Given the description of an element on the screen output the (x, y) to click on. 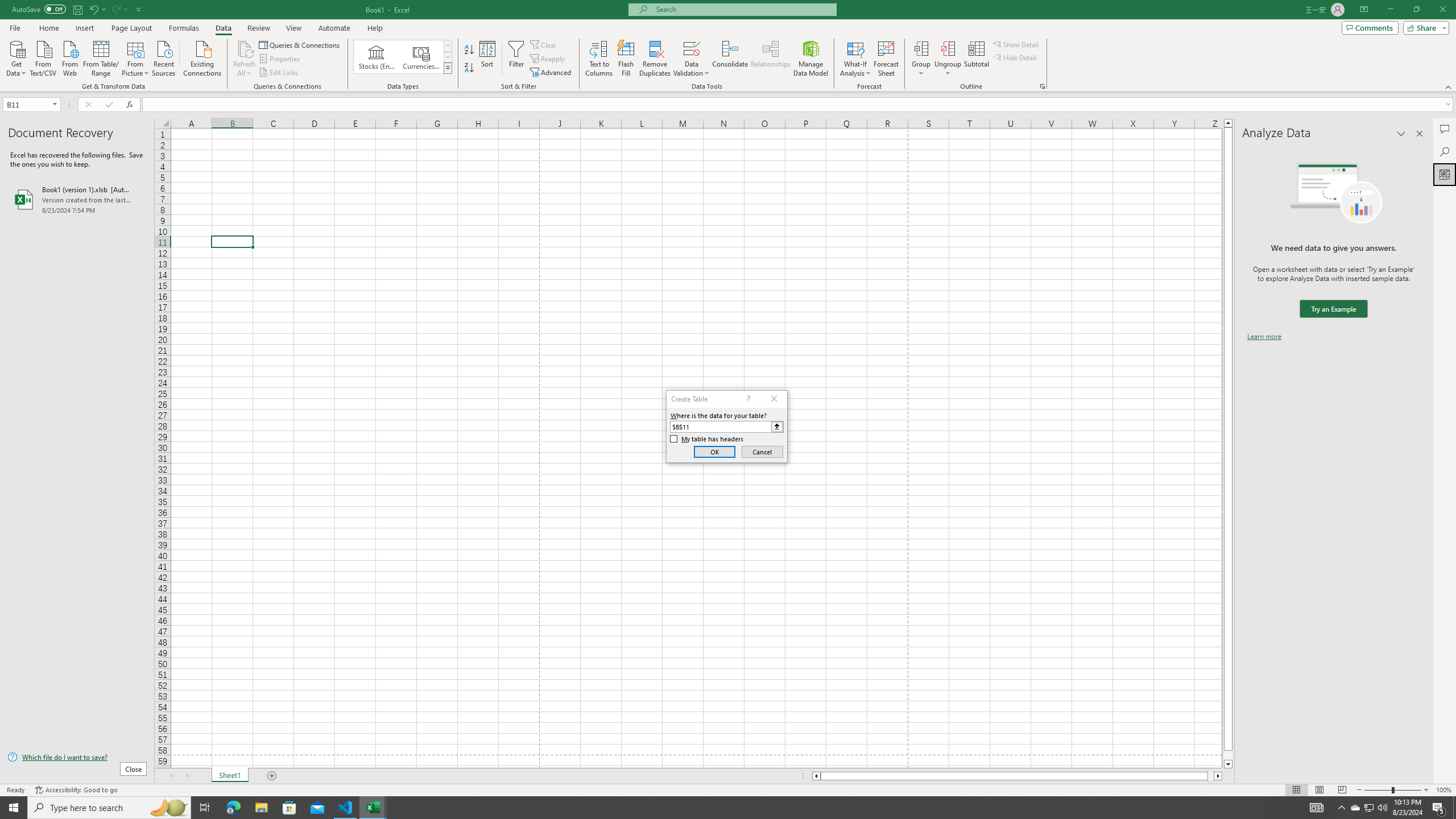
From Table/Range (100, 57)
Queries & Connections (300, 44)
Automate (334, 28)
Reapply (548, 58)
Undo (92, 9)
Zoom In (1426, 790)
Insert (83, 28)
Close pane (1419, 133)
Page Layout (1318, 790)
Page Layout (131, 28)
Share (1423, 27)
Subtotal (976, 58)
Quick Access Toolbar (77, 9)
Group... (921, 58)
